Given the description of an element on the screen output the (x, y) to click on. 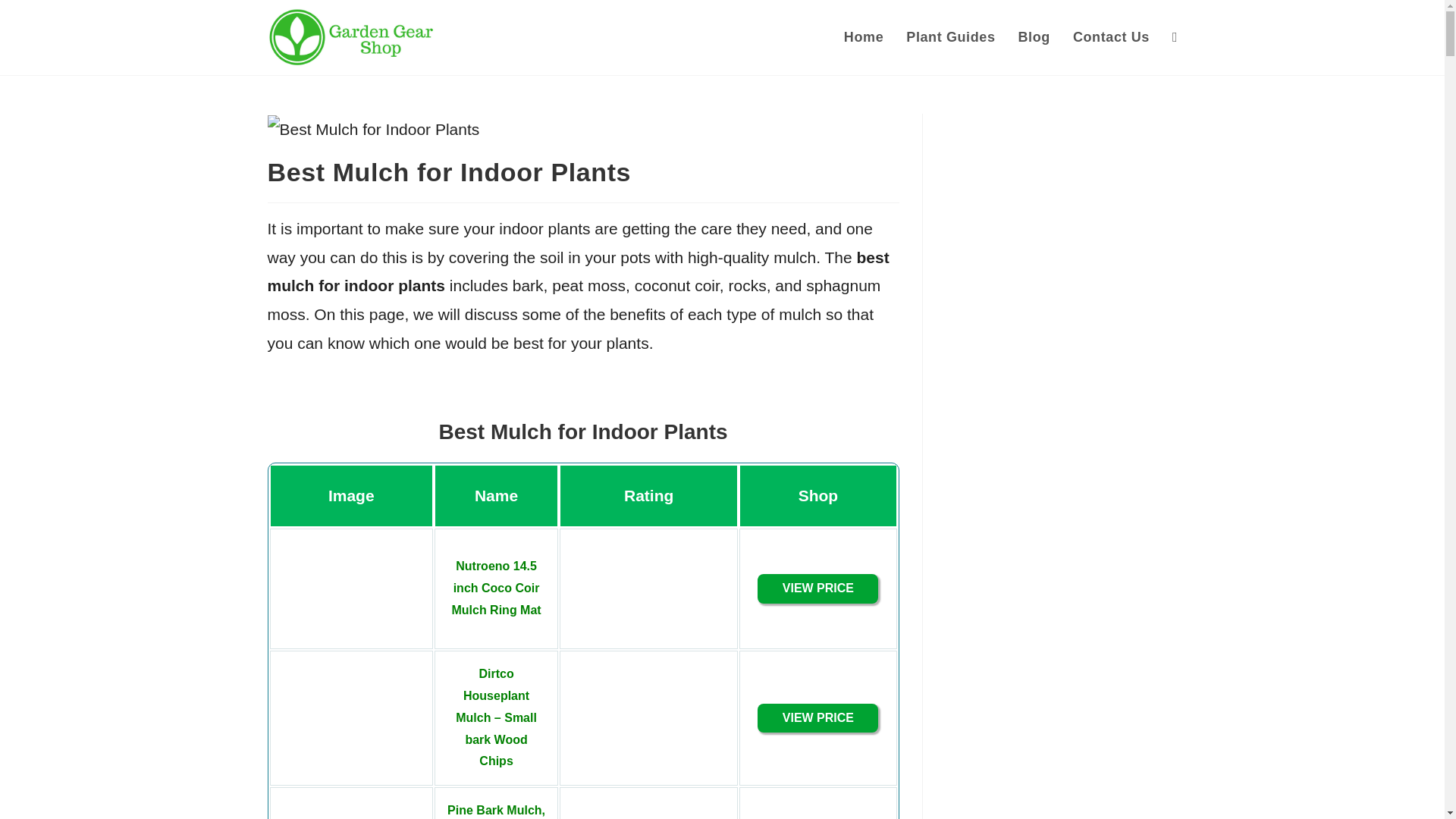
VIEW PRICE (818, 588)
Nutroeno 14.5 inch Coco Coir Mulch Ring Mat (818, 588)
VIEW PRICE (818, 718)
Nutroeno 14.5 inch Coco Coir Mulch Ring Mat (495, 587)
Nutroeno 14.5 inch Coco Coir Mulch Ring Mat (495, 587)
Plant Guides (950, 37)
Contact Us (1110, 37)
